Given the description of an element on the screen output the (x, y) to click on. 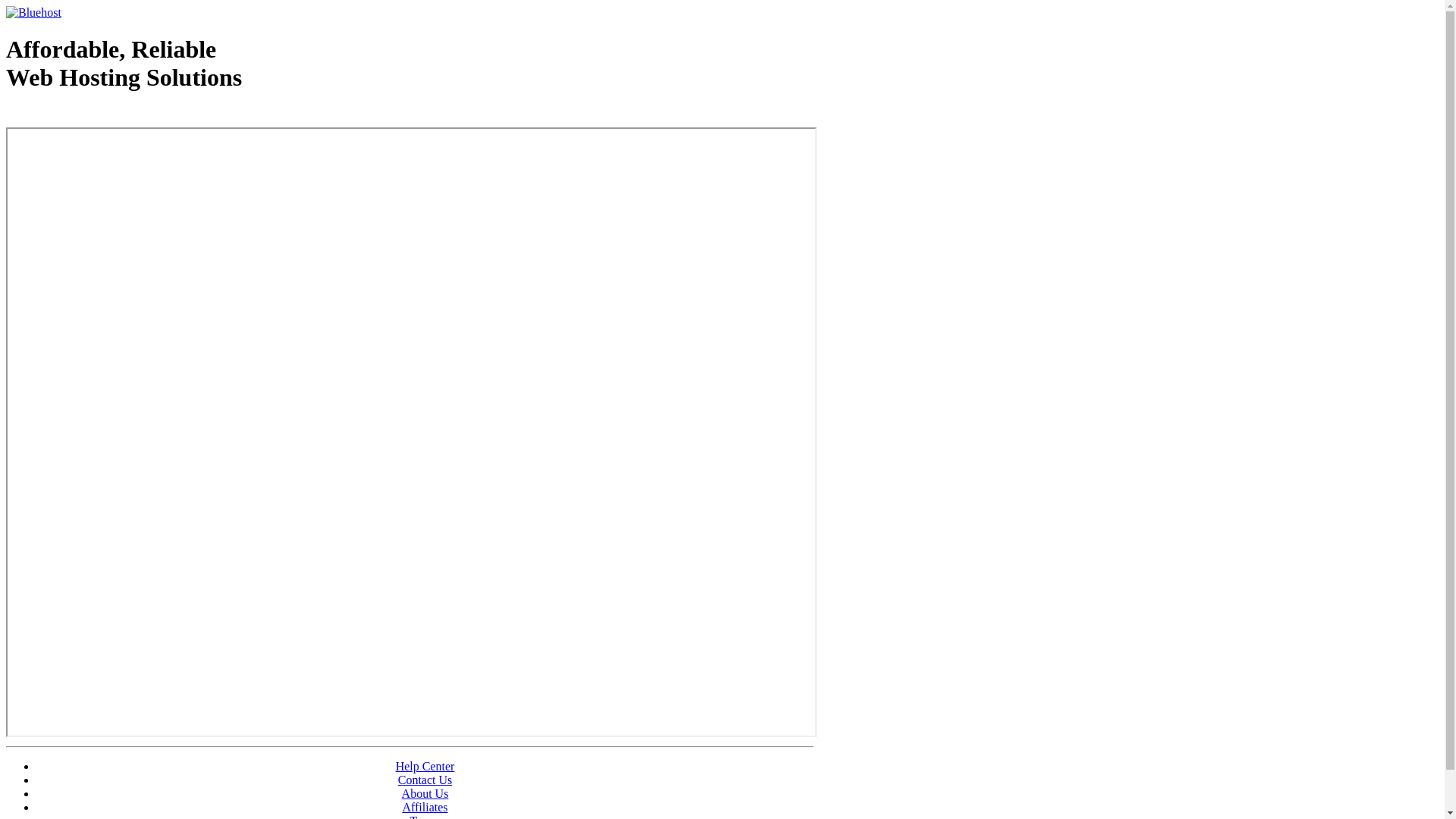
Contact Us Element type: text (425, 779)
Help Center Element type: text (425, 765)
Web Hosting - courtesy of www.bluehost.com Element type: text (94, 115)
About Us Element type: text (424, 793)
Affiliates Element type: text (424, 806)
